Given the description of an element on the screen output the (x, y) to click on. 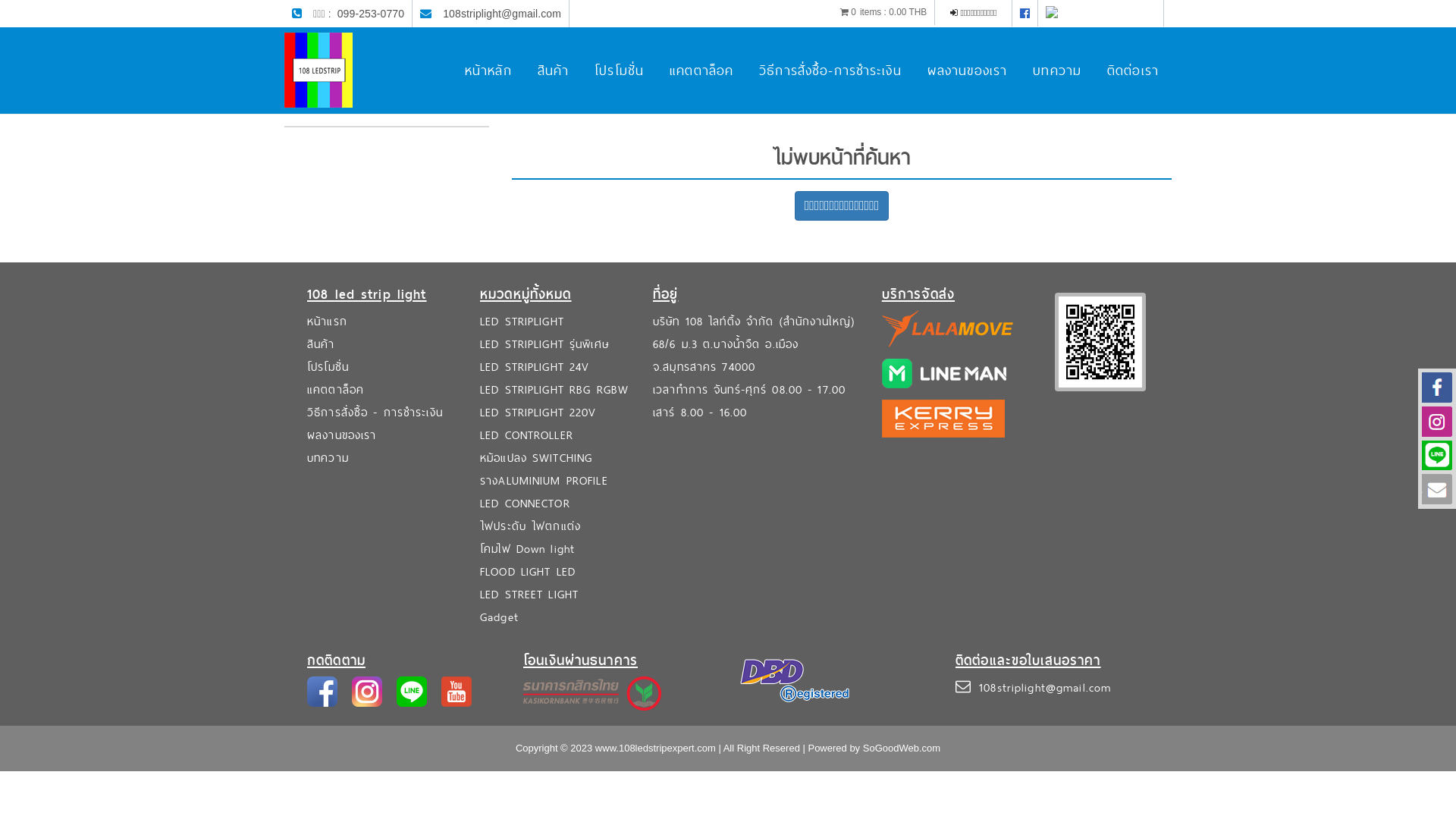
108striplight@gmail.com Element type: text (501, 13)
LED STRIPLIGHT 24V Element type: text (534, 366)
LED STRIPLIGHT RBG RGBW Element type: text (554, 388)
108striplight@gmail.com Element type: text (1044, 686)
099-253-0770 Element type: text (370, 13)
LED STRIPLI Element type: text (511, 320)
LED CONNECTOR Element type: text (525, 502)
  0 0.00 THB Element type: text (883, 12)
LED CONTROLLER Element type: text (526, 434)
LED STREET LIGHT Element type: text (529, 593)
LED STRIPLIGHT 220V Element type: text (538, 411)
Gadget Element type: text (499, 616)
GHT Element type: text (552, 320)
SoGoodWeb.com Element type: text (901, 747)
FLOOD LIGHT LED Element type: text (527, 570)
